Given the description of an element on the screen output the (x, y) to click on. 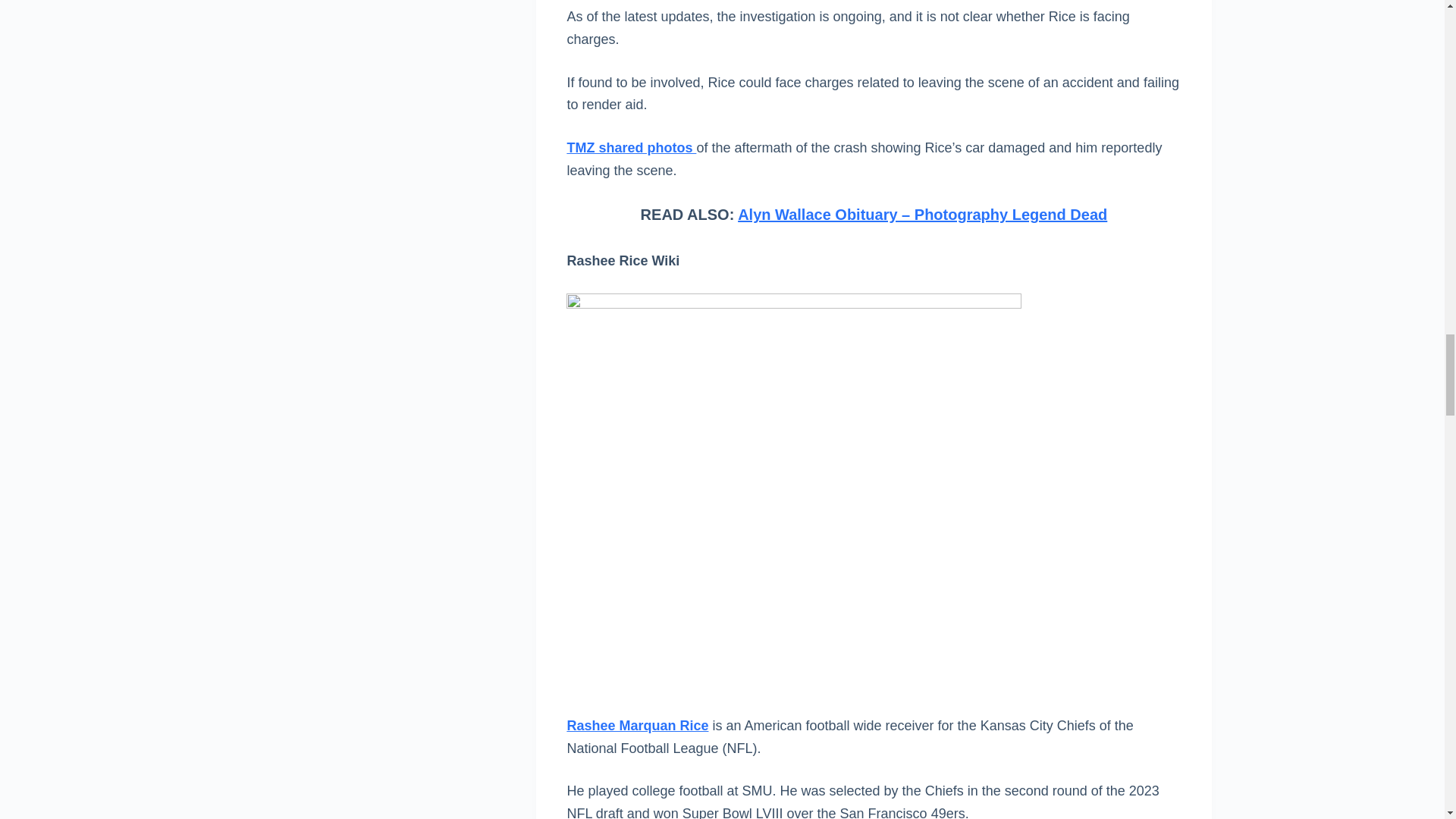
TMZ shared photos (630, 147)
Rashee Marquan Rice (636, 725)
